Given the description of an element on the screen output the (x, y) to click on. 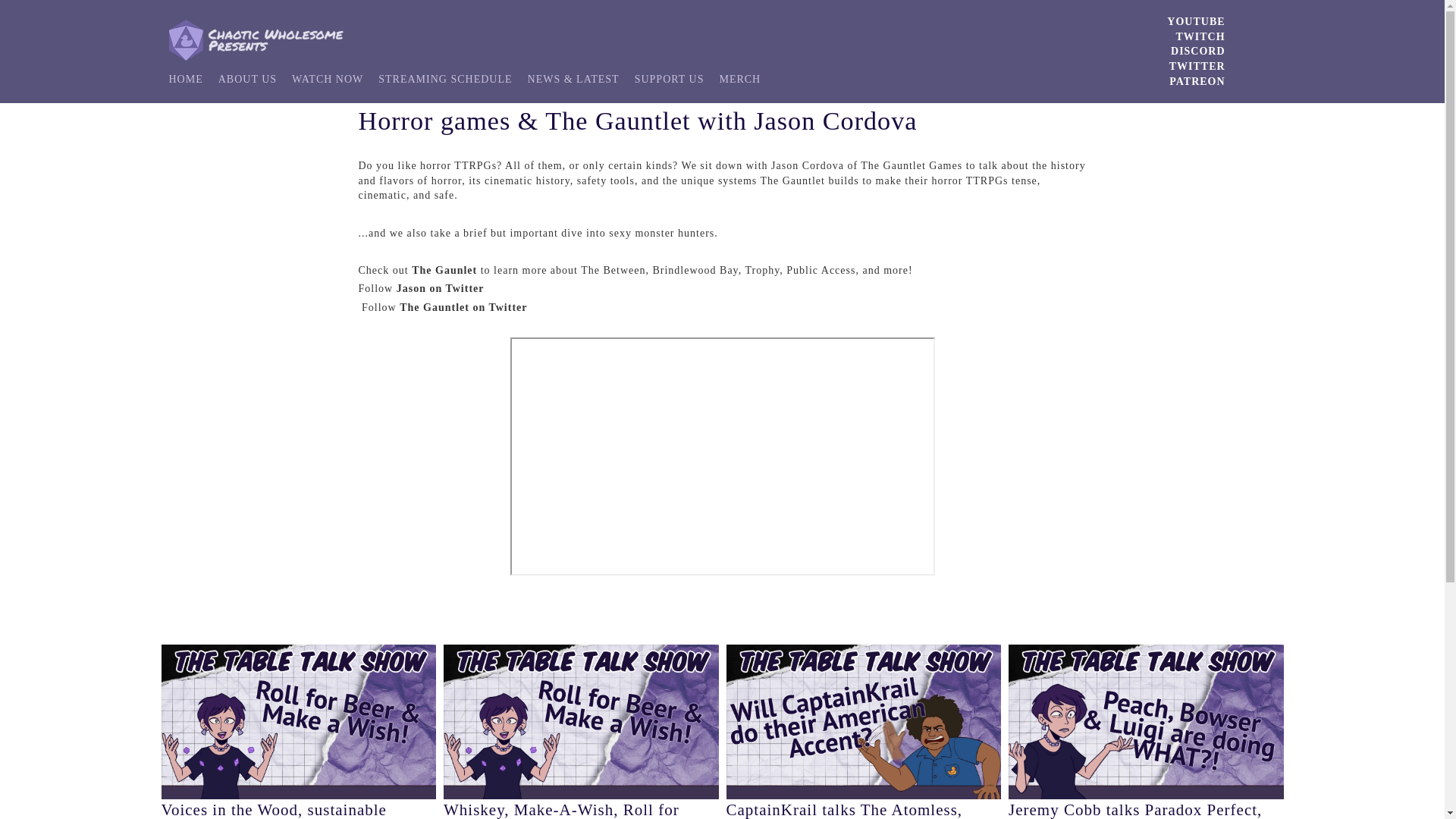
YOUTUBE (1195, 21)
STREAMING SCHEDULE (445, 79)
ABOUT US (247, 79)
HOME (185, 79)
SUPPORT US (669, 79)
MERCH (739, 79)
WATCH NOW (327, 79)
